Given the description of an element on the screen output the (x, y) to click on. 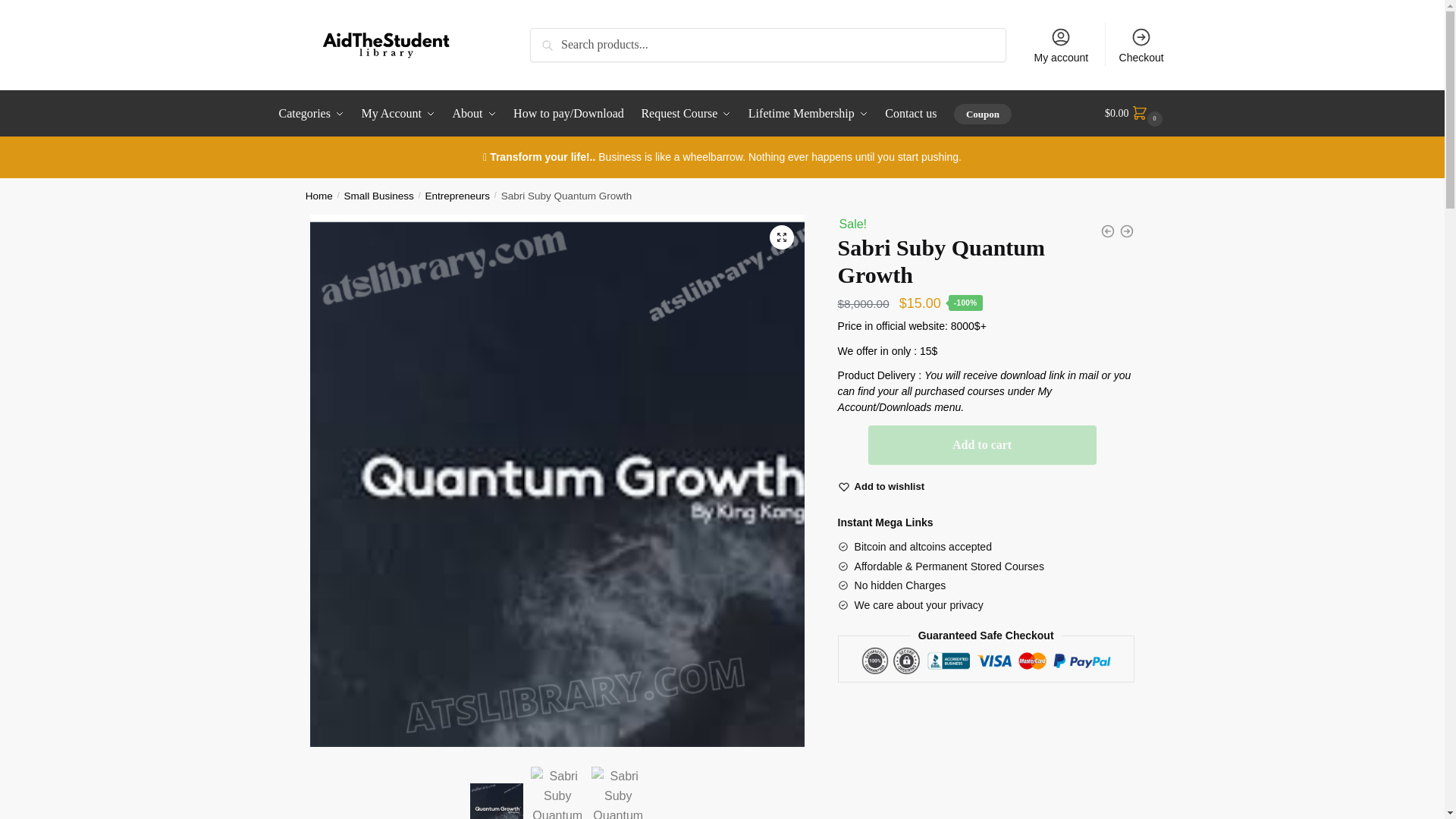
My account (1061, 44)
My Account (398, 113)
Wishlist (889, 486)
Categories (314, 113)
View your shopping cart (1135, 113)
Search (550, 38)
About (474, 113)
Checkout (1141, 44)
